Given the description of an element on the screen output the (x, y) to click on. 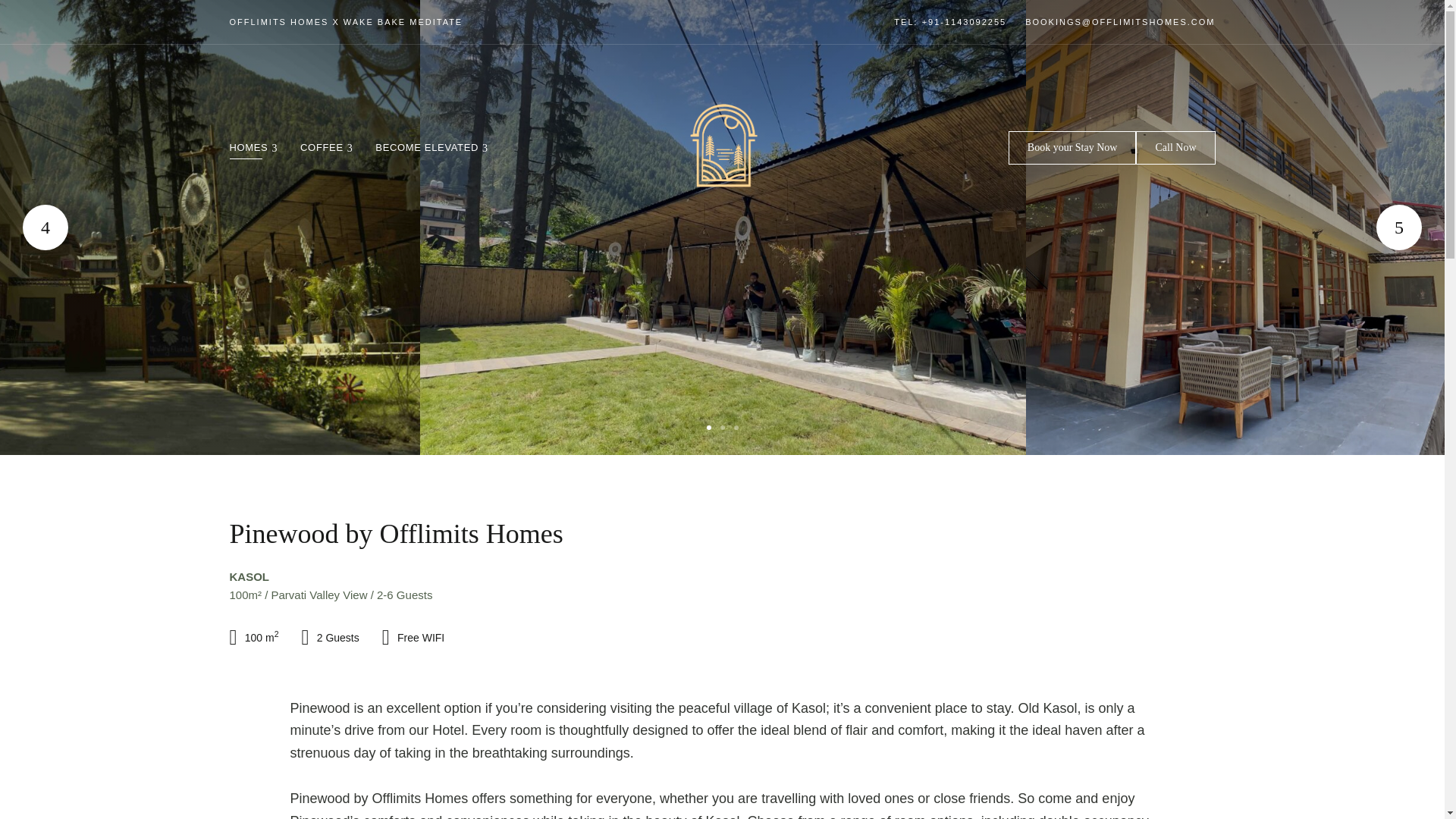
Next (1398, 227)
Book your Stay Now (1073, 147)
2 (722, 427)
Previous (45, 227)
BECOME ELEVATED (431, 147)
1 (708, 427)
3 (735, 427)
COFFEE (326, 147)
Call Now (1174, 147)
HOMES (253, 147)
